Given the description of an element on the screen output the (x, y) to click on. 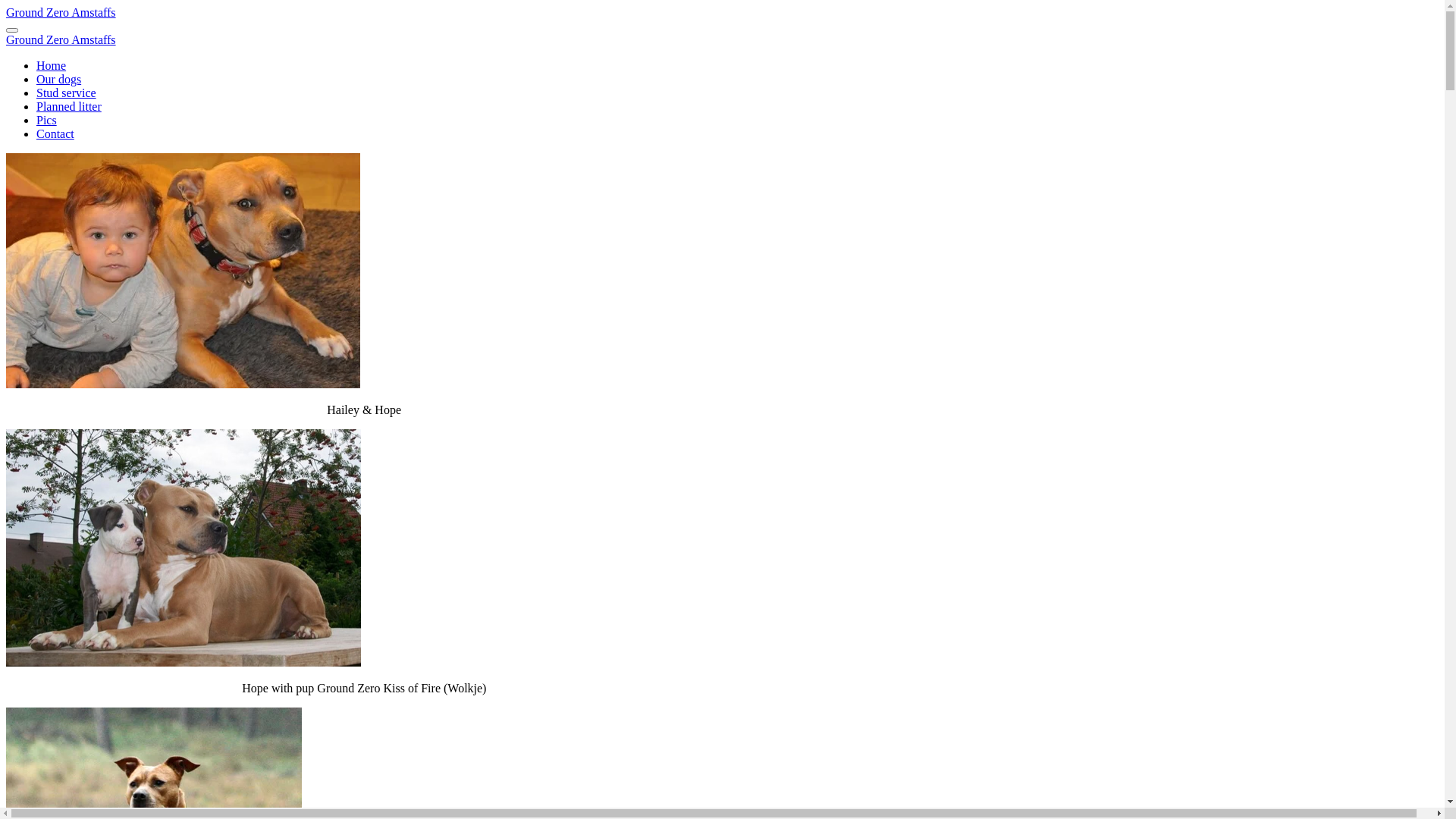
Planned litter Element type: text (68, 106)
Pics Element type: text (46, 119)
Stud service Element type: text (66, 92)
Contact Element type: text (55, 133)
Ground Zero Amstaffs Element type: text (61, 39)
Our dogs Element type: text (58, 78)
Home Element type: text (50, 65)
Ground Zero Amstaffs Element type: text (61, 12)
